Given the description of an element on the screen output the (x, y) to click on. 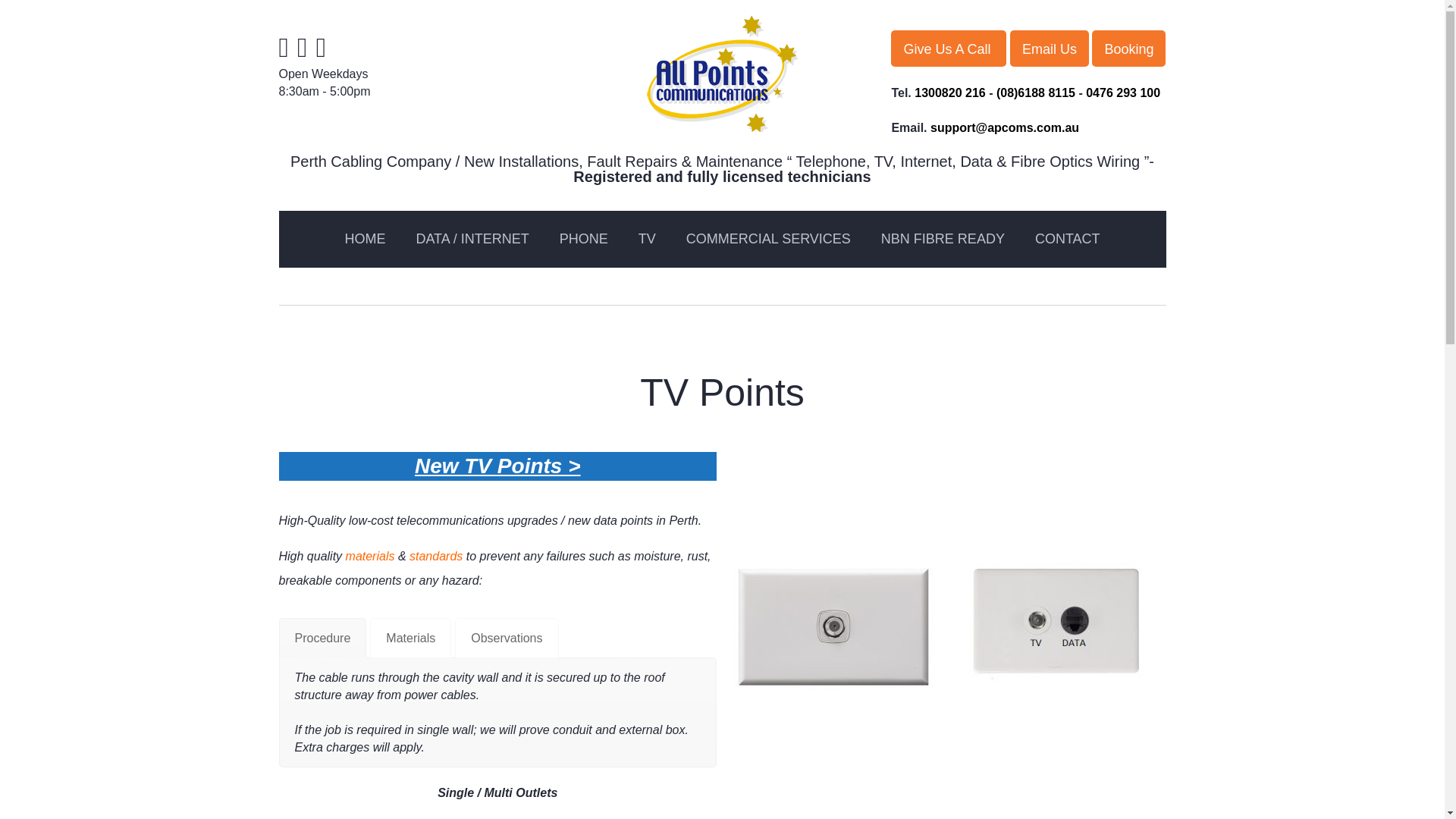
1300820 216 (949, 92)
TV outlet apcoms (834, 626)
Email Us (1049, 48)
PHONE (583, 238)
Booking (1129, 48)
NBN FIBRE READY (943, 238)
0476 293 100 (1123, 92)
COMMERCIAL SERVICES (768, 238)
data tv outlet apcoms (1058, 626)
HOME (364, 238)
Give Us A Call  (948, 48)
